Given the description of an element on the screen output the (x, y) to click on. 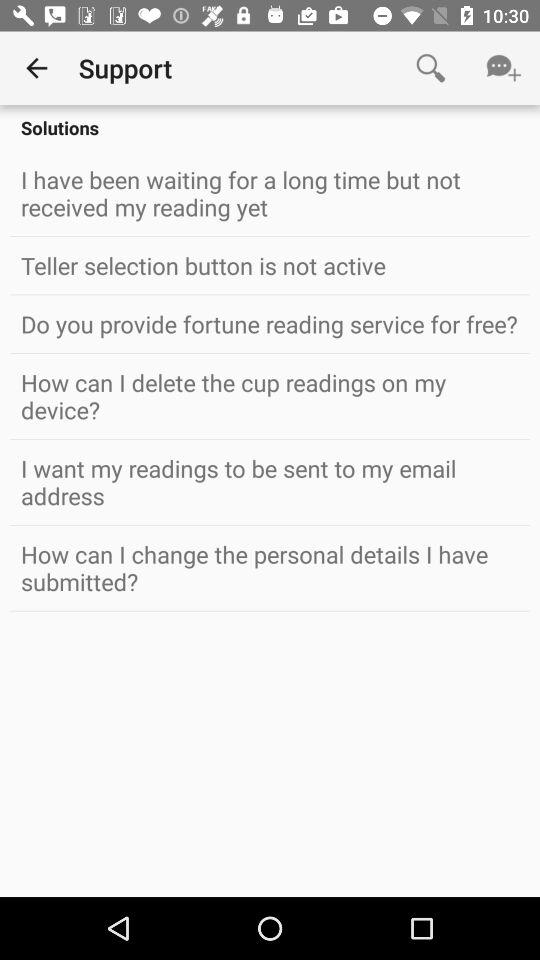
press item to the left of the support (36, 68)
